Given the description of an element on the screen output the (x, y) to click on. 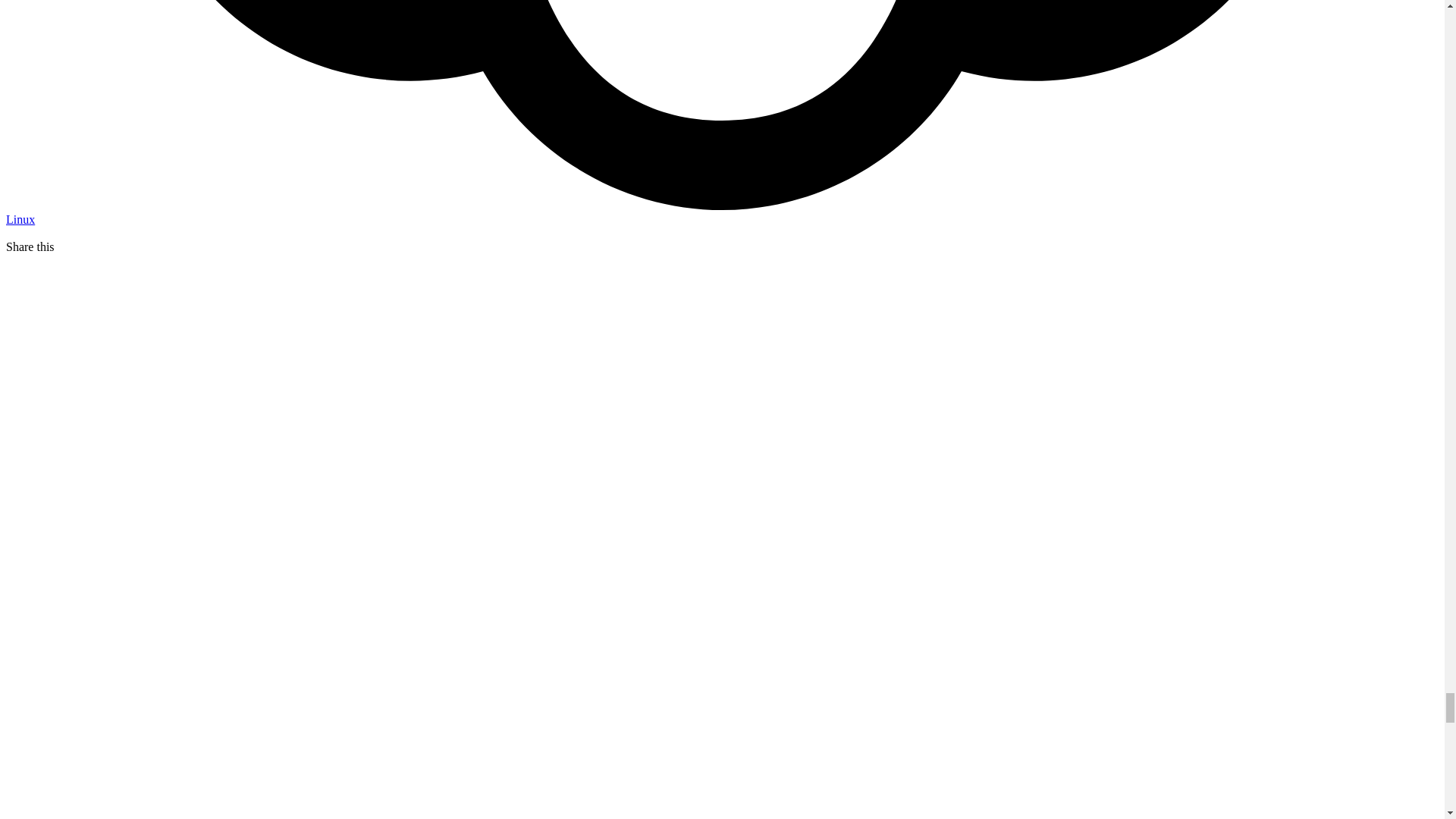
Linux (19, 219)
